Given the description of an element on the screen output the (x, y) to click on. 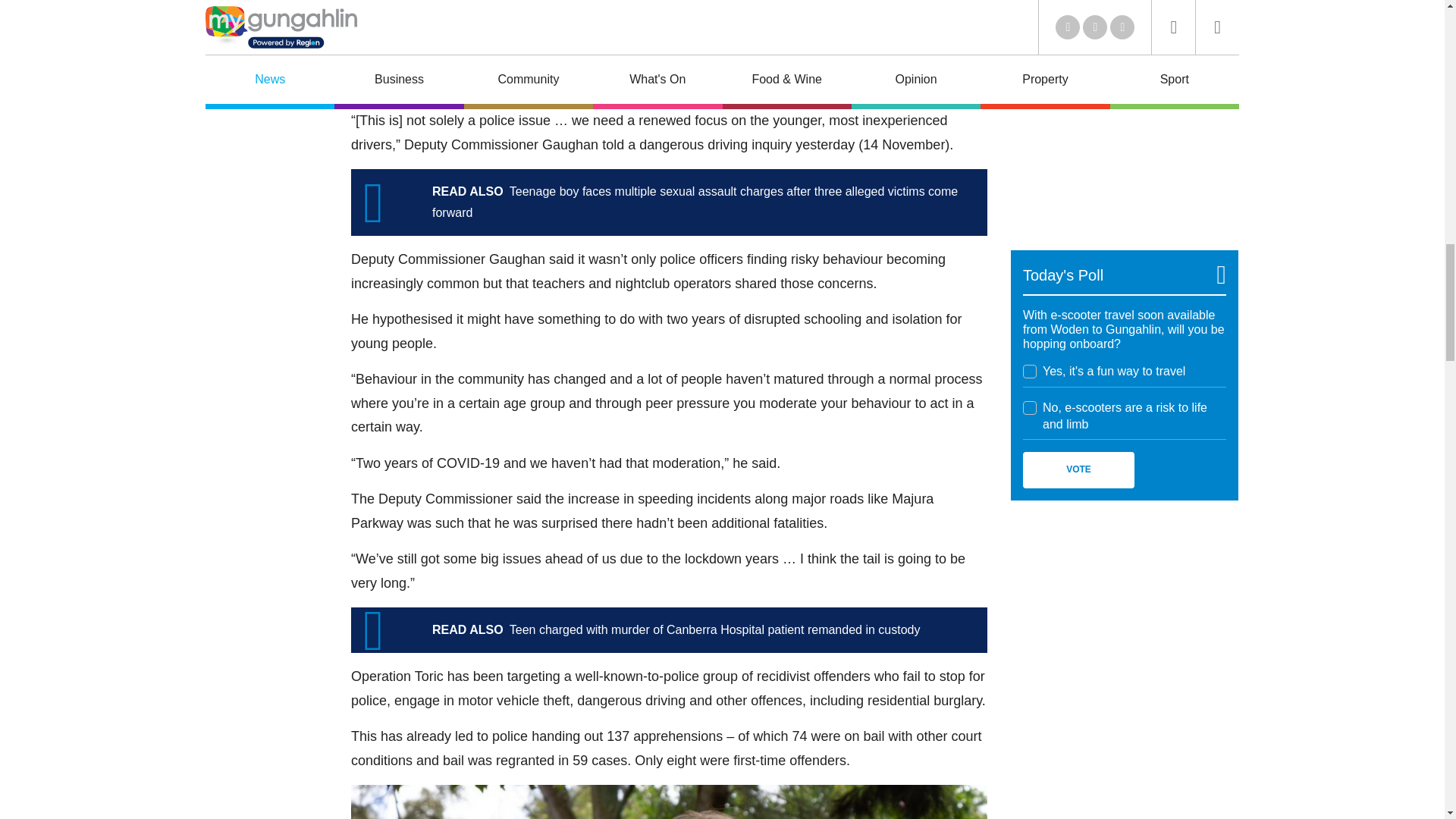
   Vote    (1078, 470)
Zango Sales (1124, 131)
1 (1029, 371)
2 (1029, 407)
3rd party ad content (1124, 619)
